Given the description of an element on the screen output the (x, y) to click on. 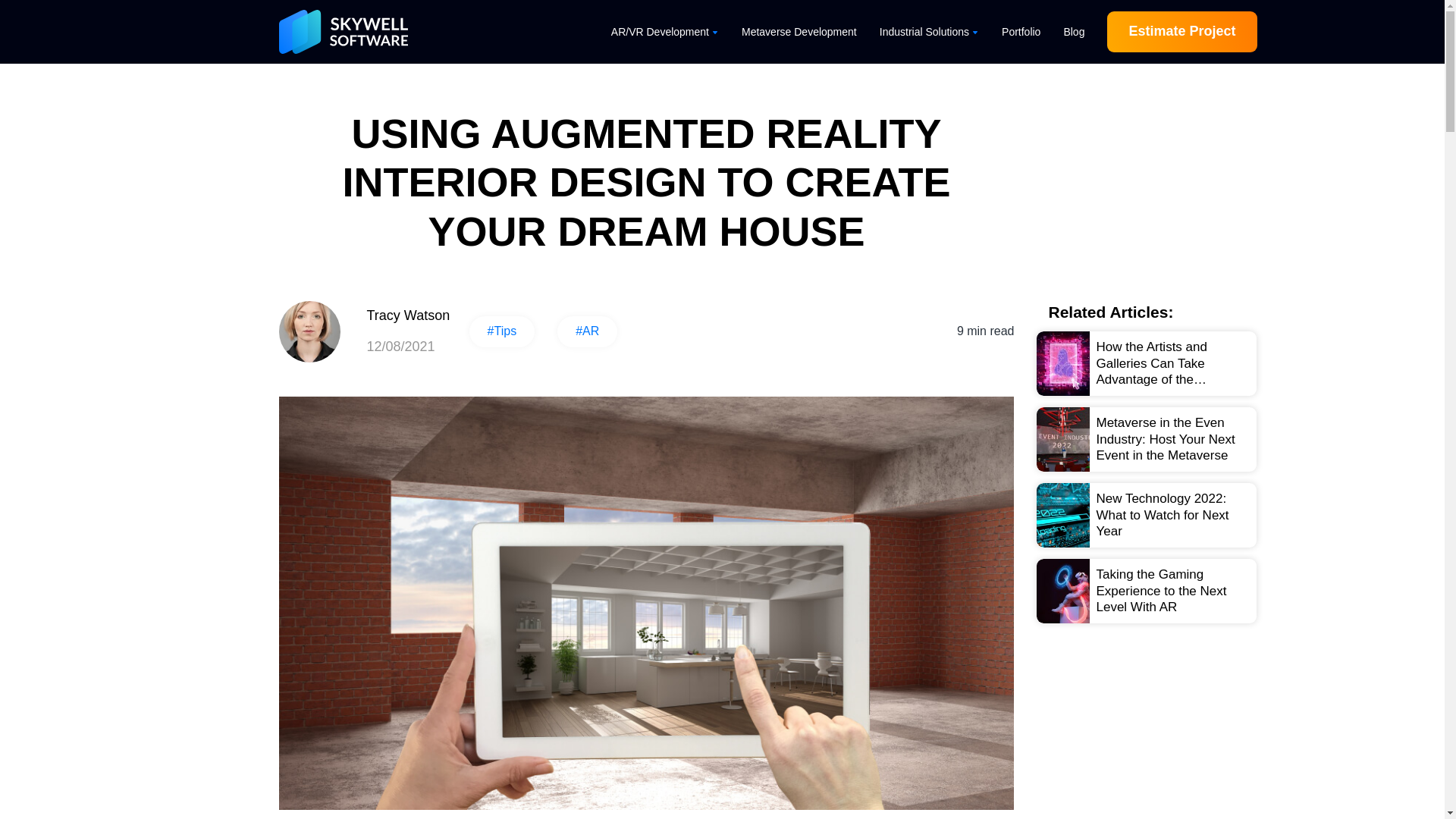
Estimate Project (1181, 31)
Taking the Gaming Experience to the Next Level With AR (1146, 590)
Metaverse Development (799, 31)
New Technology 2022: What to Watch for Next Year (1146, 515)
Portfolio (1021, 31)
Blog (1073, 31)
